Given the description of an element on the screen output the (x, y) to click on. 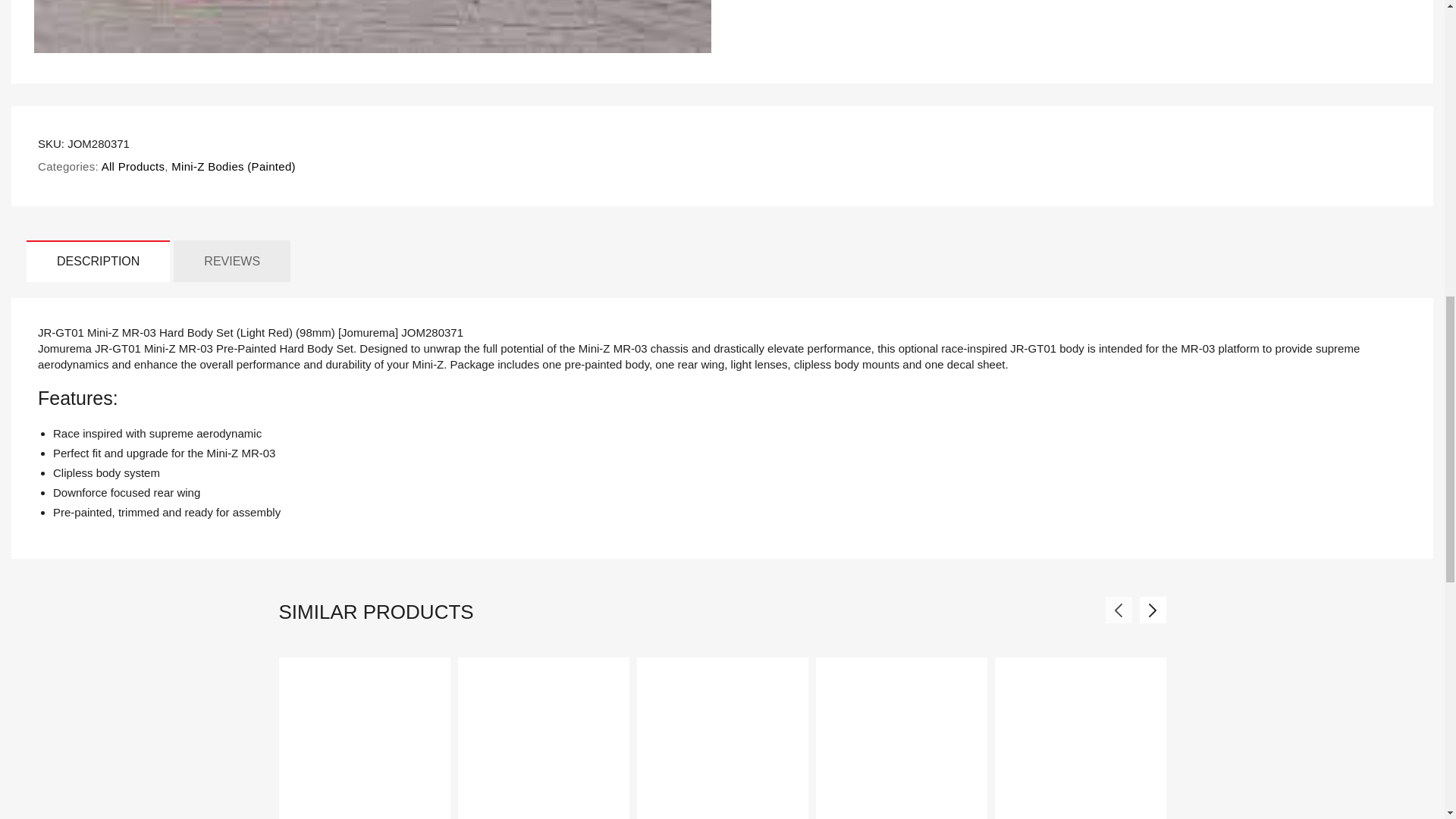
PN RACING (322, 818)
All Products (131, 165)
